Given the description of an element on the screen output the (x, y) to click on. 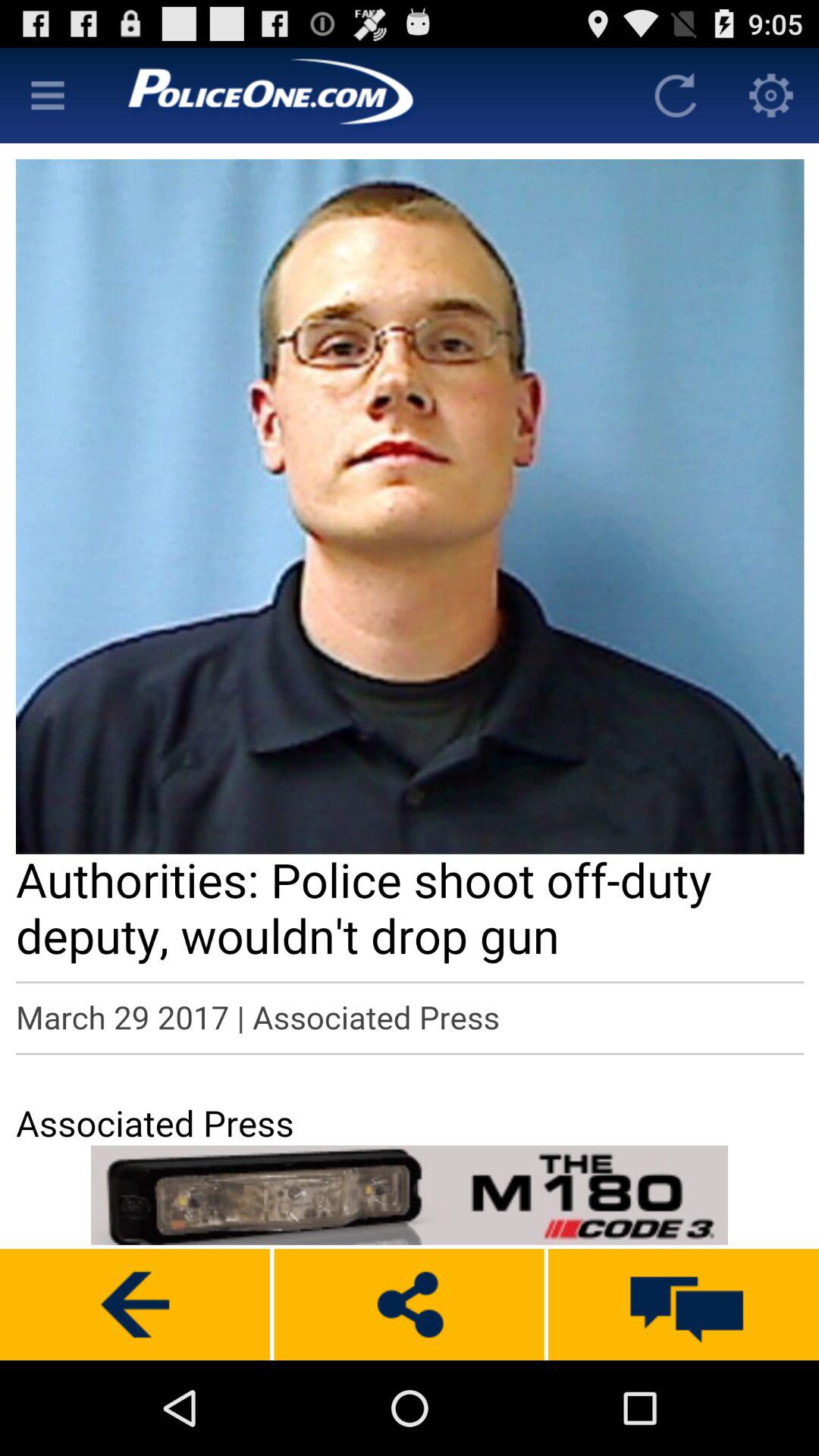
share the content (409, 1304)
